Given the description of an element on the screen output the (x, y) to click on. 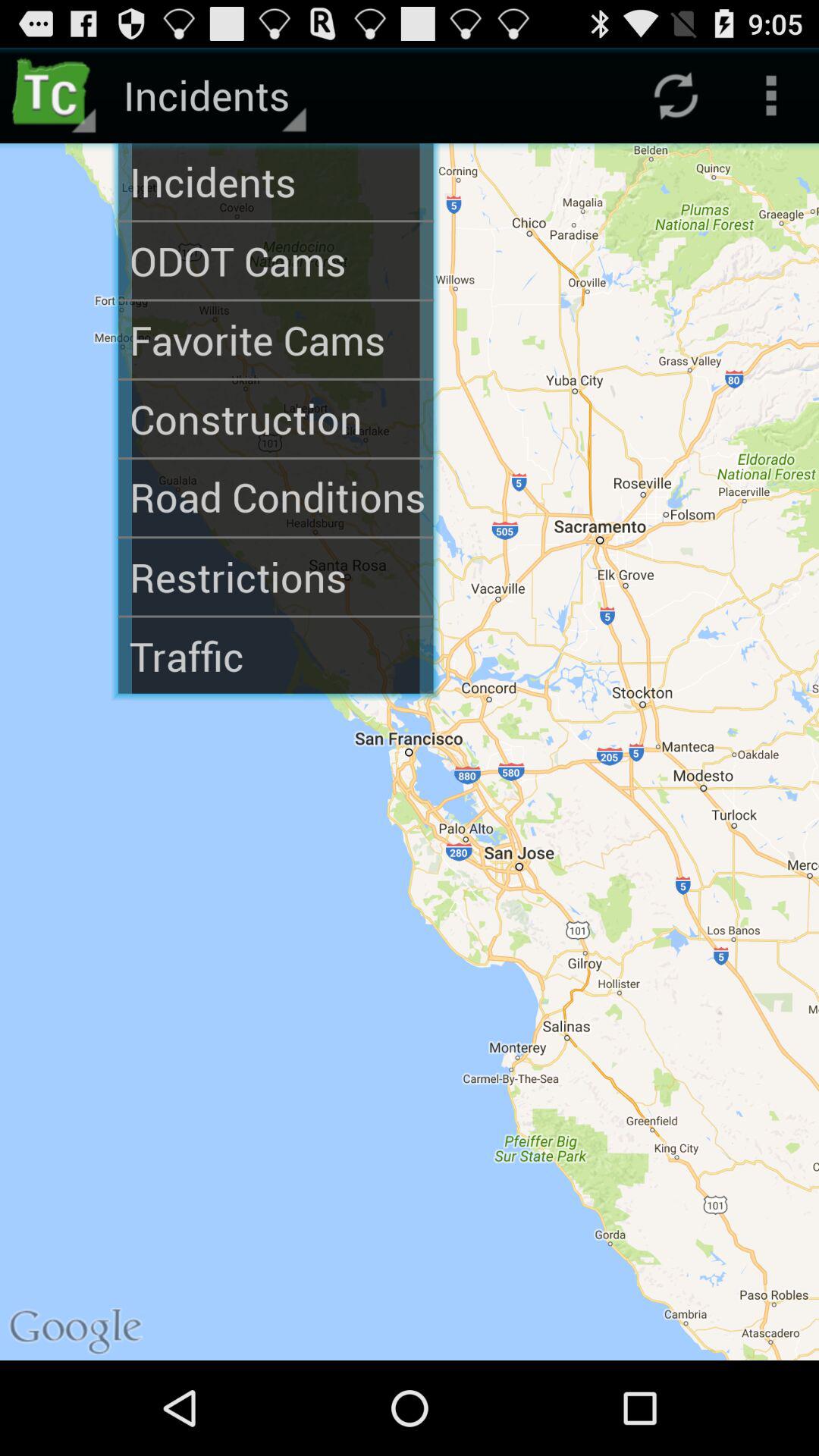
swipe until the favorite cams app (275, 339)
